Given the description of an element on the screen output the (x, y) to click on. 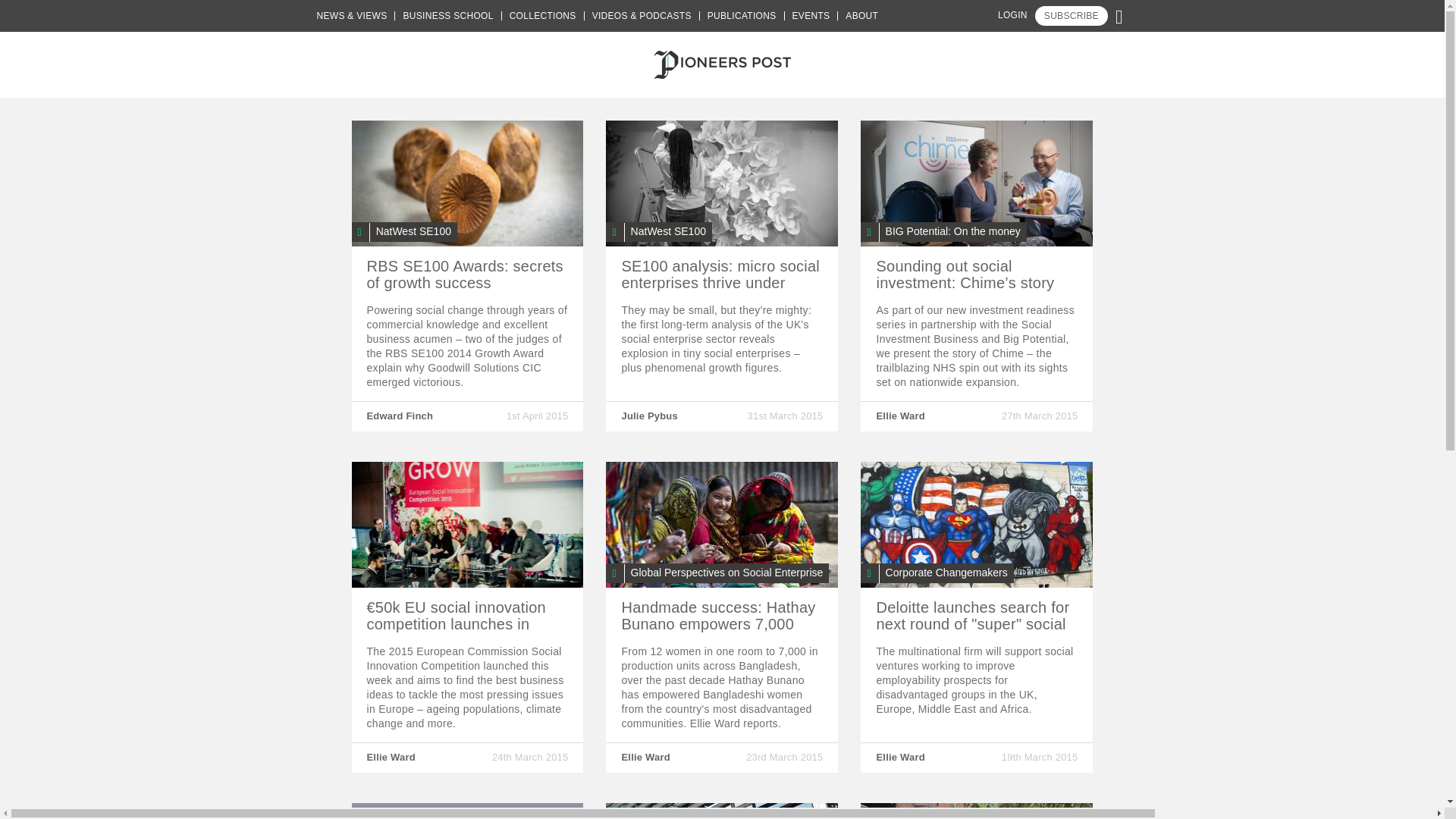
View profile for Julie Pybus (649, 415)
RBS SE100 Awards: secrets of growth success (464, 274)
Hathay Banano (721, 524)
View profile for Ellie Ward (900, 415)
2014 SE100 Awards (467, 183)
View profile for Edward Finch (399, 415)
BIG Potential: On the money (943, 231)
Chime (976, 183)
View profile for Ellie Ward (390, 756)
